Given the description of an element on the screen output the (x, y) to click on. 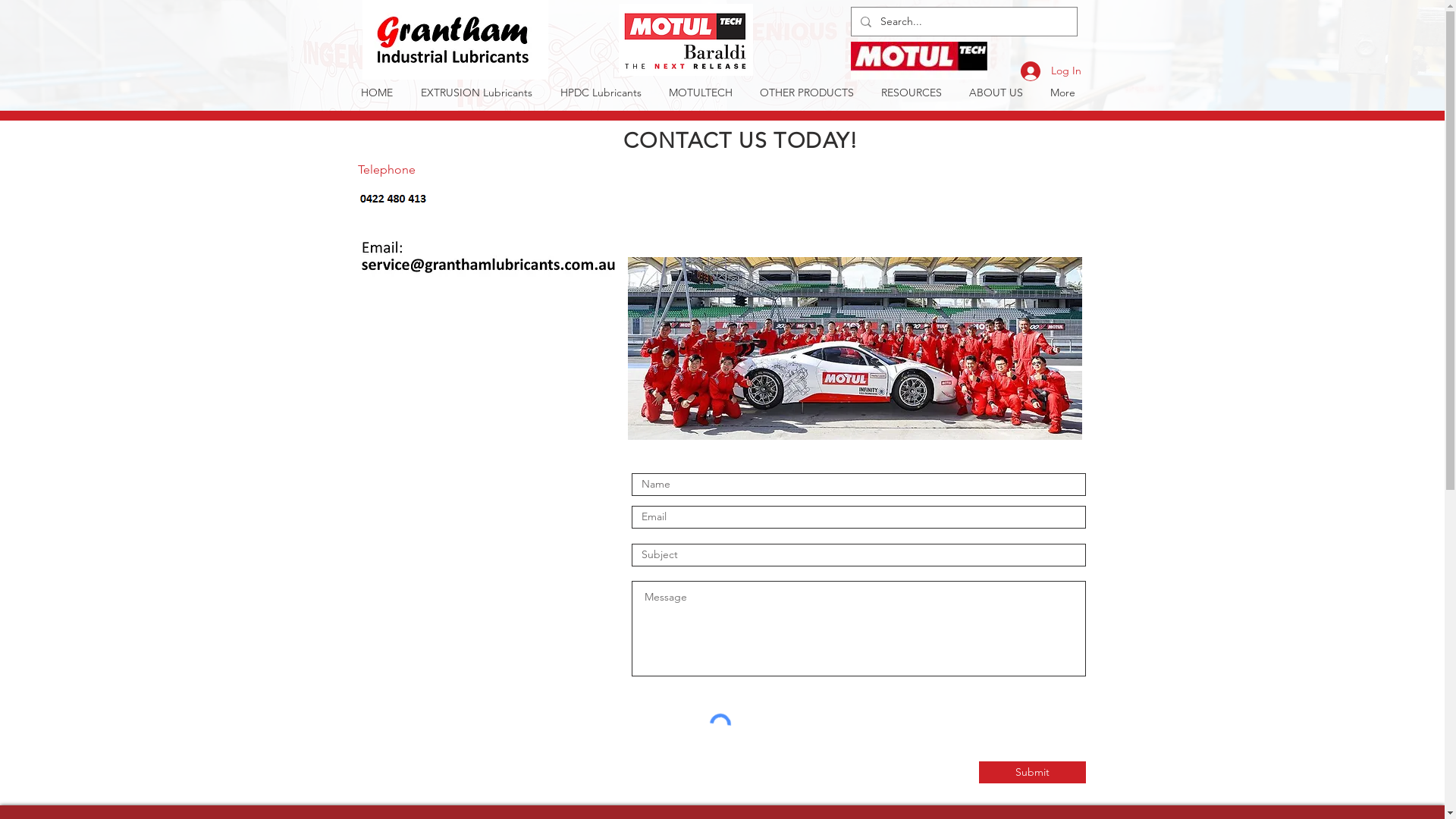
MOTULTECH Element type: text (700, 92)
Google Maps Element type: hover (470, 400)
RESOURCES Element type: text (911, 92)
TWIPLA (Visitor Analytics) Element type: hover (477, 618)
HOME Element type: text (377, 92)
ABOUT US Element type: text (995, 92)
EXTRUSION Lubricants Element type: text (476, 92)
Submit Element type: text (1031, 772)
OTHER PRODUCTS Element type: text (806, 92)
Log In Element type: text (1051, 70)
HPDC Lubricants Element type: text (600, 92)
